Given the description of an element on the screen output the (x, y) to click on. 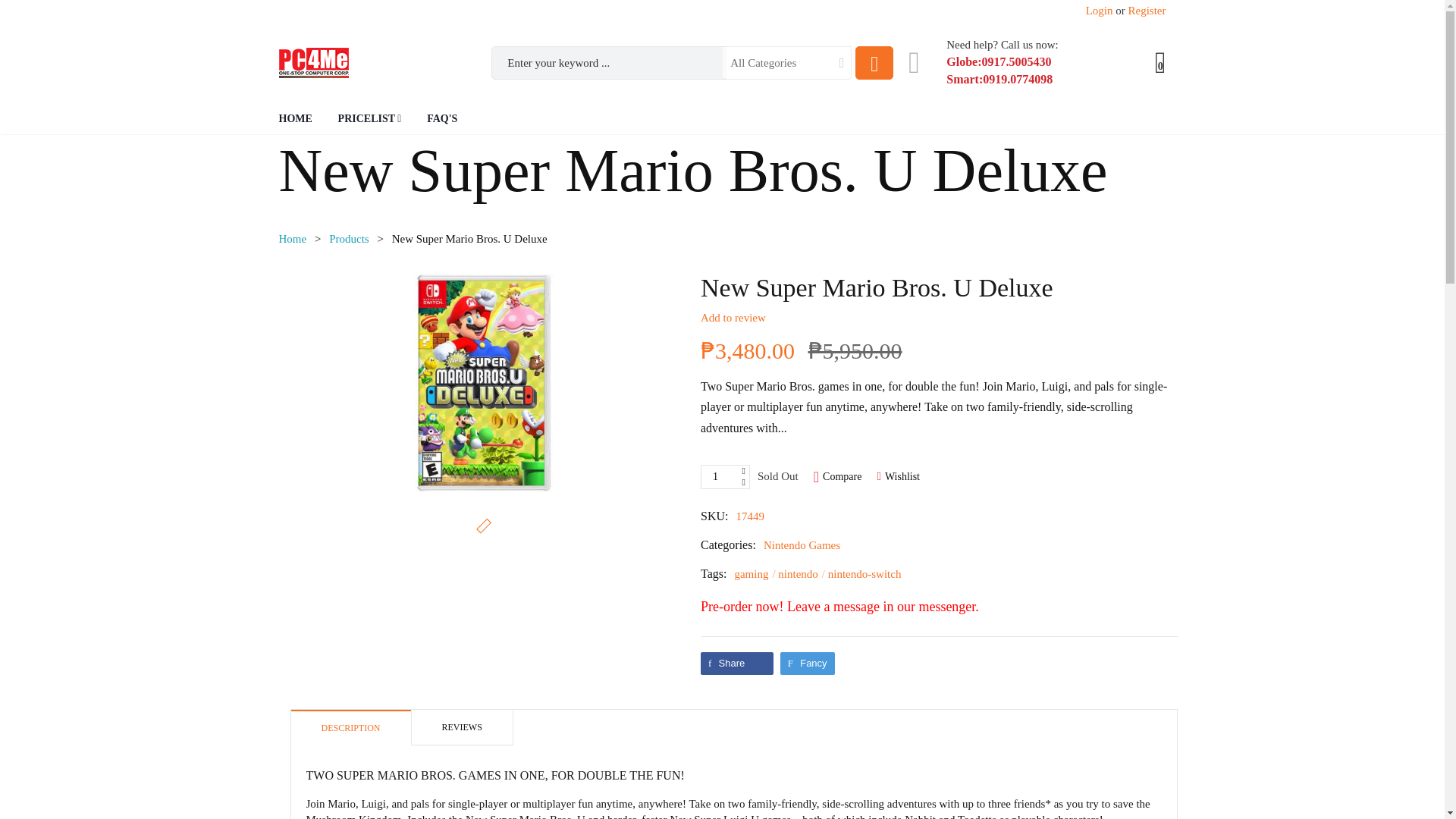
Globe:0917.5005430 Smart:0919.0774098 (999, 70)
FAQ'S (441, 118)
PC4Me One Stop Computer Corporation (314, 62)
Login (1099, 10)
All Products (349, 238)
PC4Me One Stop Computer Corporation (293, 238)
Add To Compare (837, 476)
Register (1147, 10)
HOME (296, 118)
Increase (737, 471)
PRICELIST (369, 118)
Add To Wishlist (898, 476)
Decrease (737, 482)
0 (1160, 62)
1 (723, 477)
